Given the description of an element on the screen output the (x, y) to click on. 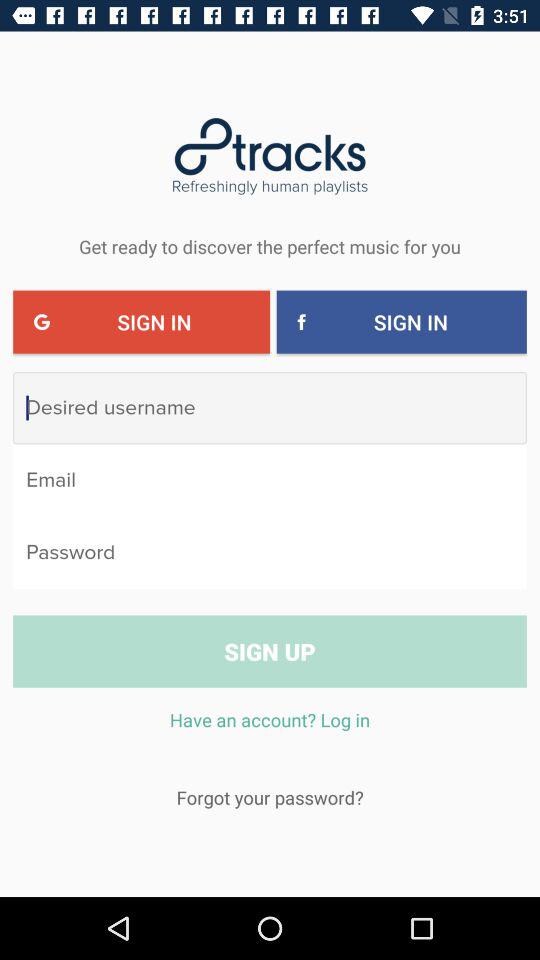
select the item above the have an account item (269, 651)
